Given the description of an element on the screen output the (x, y) to click on. 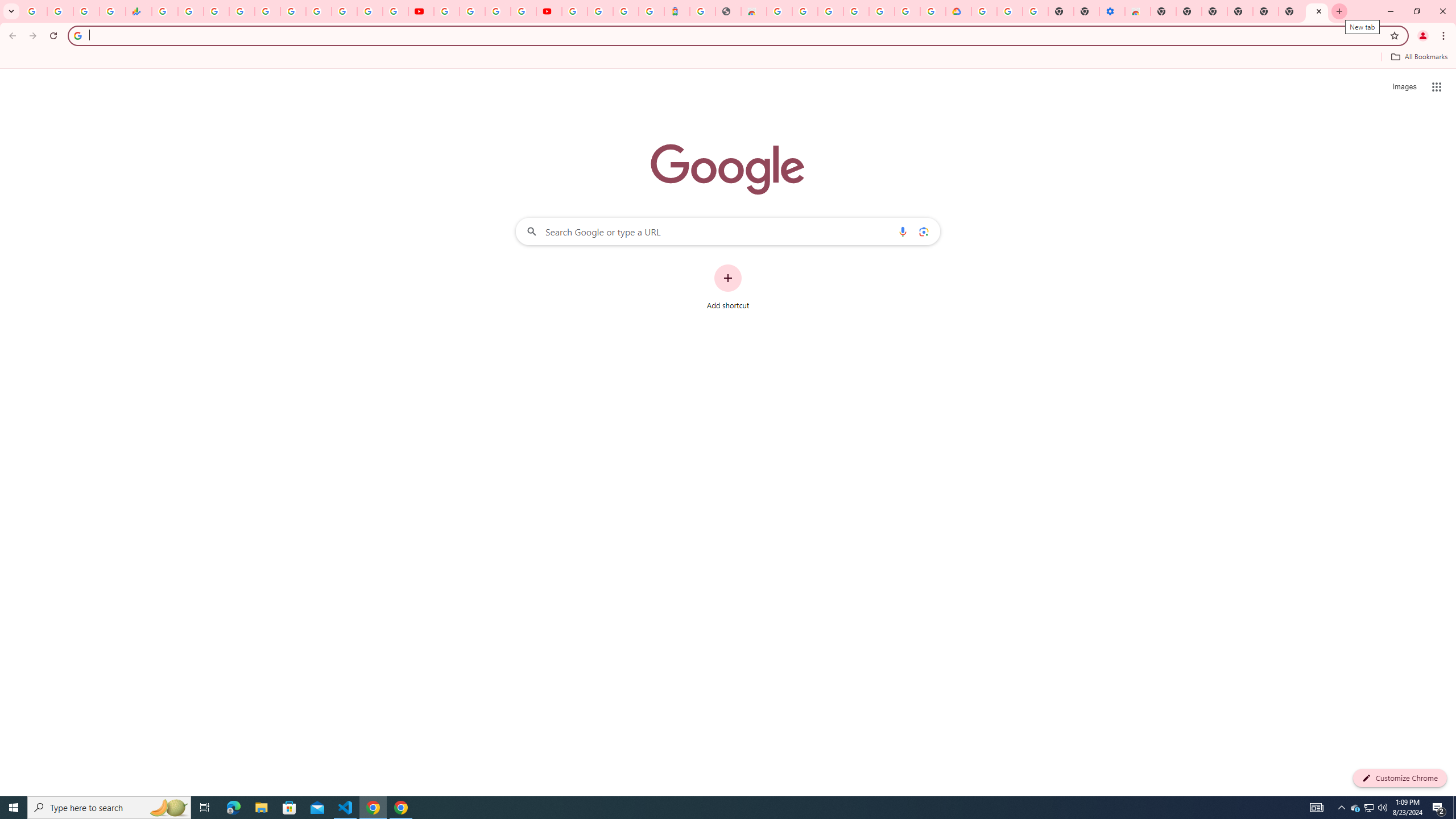
Sign in - Google Accounts (830, 11)
New Tab (1316, 11)
Sign in - Google Accounts (242, 11)
New Tab (1265, 11)
Content Creator Programs & Opportunities - YouTube Creators (548, 11)
